Given the description of an element on the screen output the (x, y) to click on. 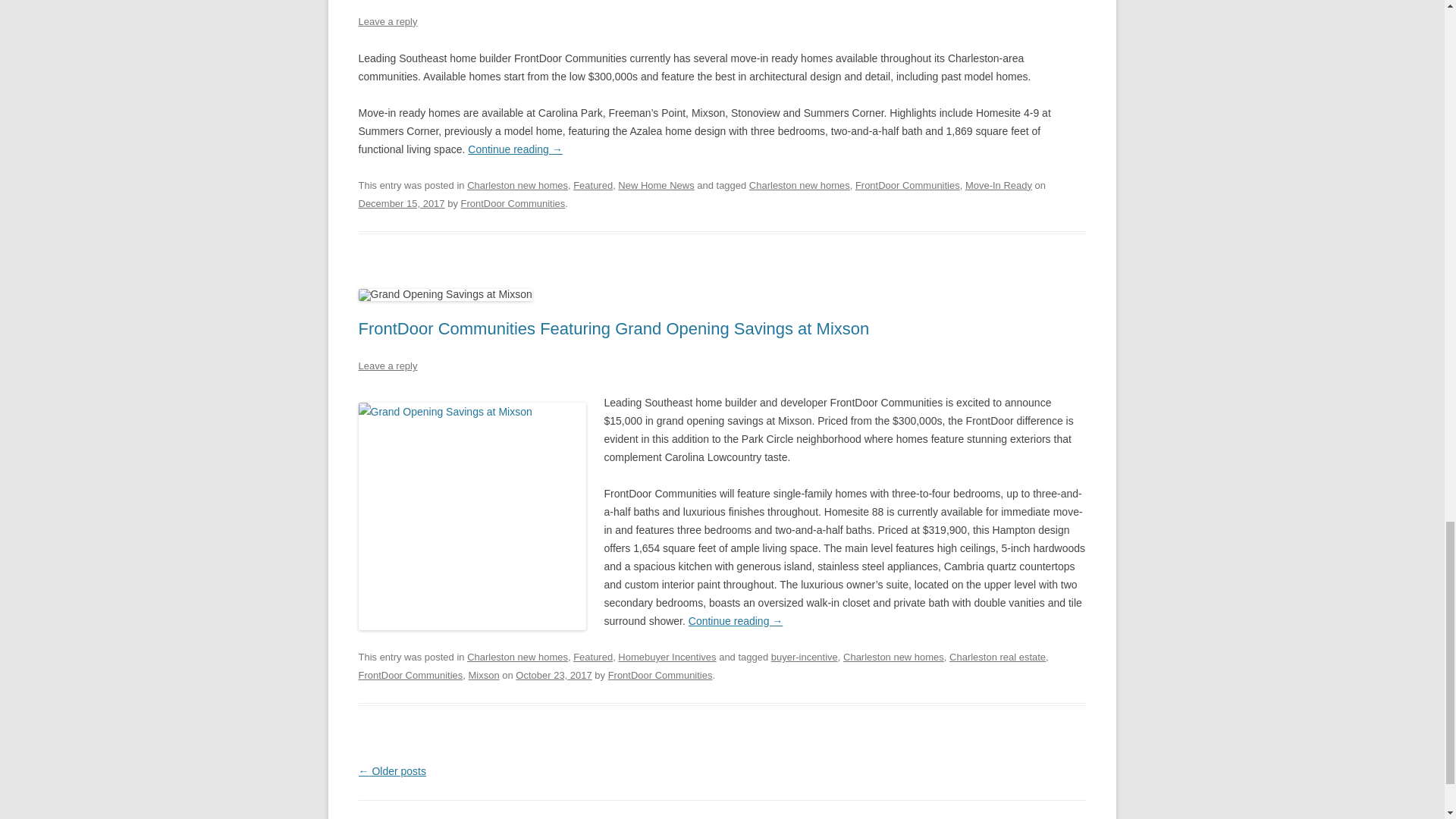
View all posts by FrontDoor Communities (512, 203)
11:22 am (553, 674)
View all posts by FrontDoor Communities (660, 674)
10:00 am (401, 203)
